Given the description of an element on the screen output the (x, y) to click on. 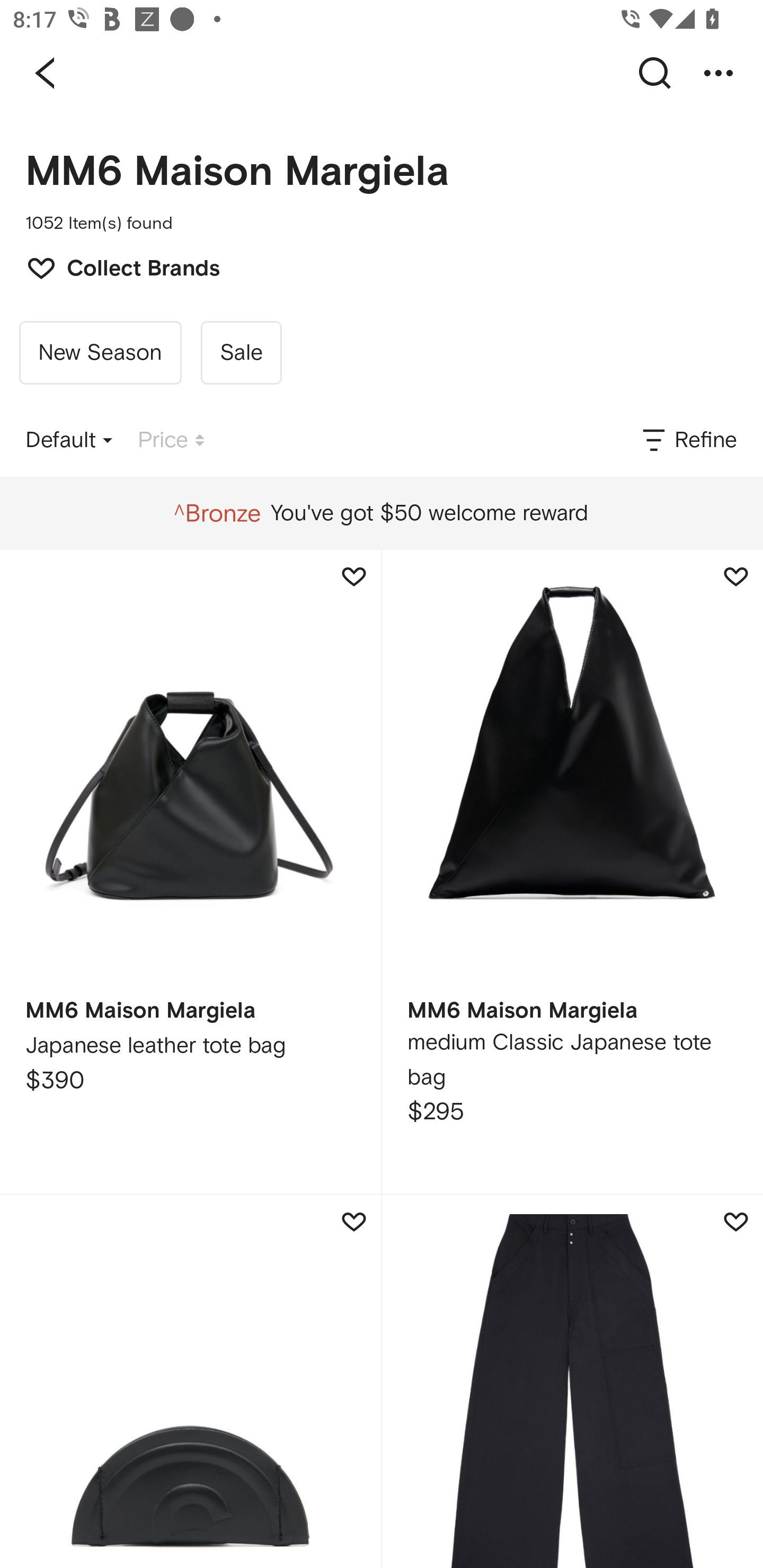
Collect Brands (114, 266)
New Season (100, 352)
Sale (240, 352)
Default (68, 440)
Price (171, 440)
Refine (688, 440)
You've got $50 welcome reward (381, 513)
MM6 Maison Margiela Japanese leather tote bag $390 (190, 871)
